Given the description of an element on the screen output the (x, y) to click on. 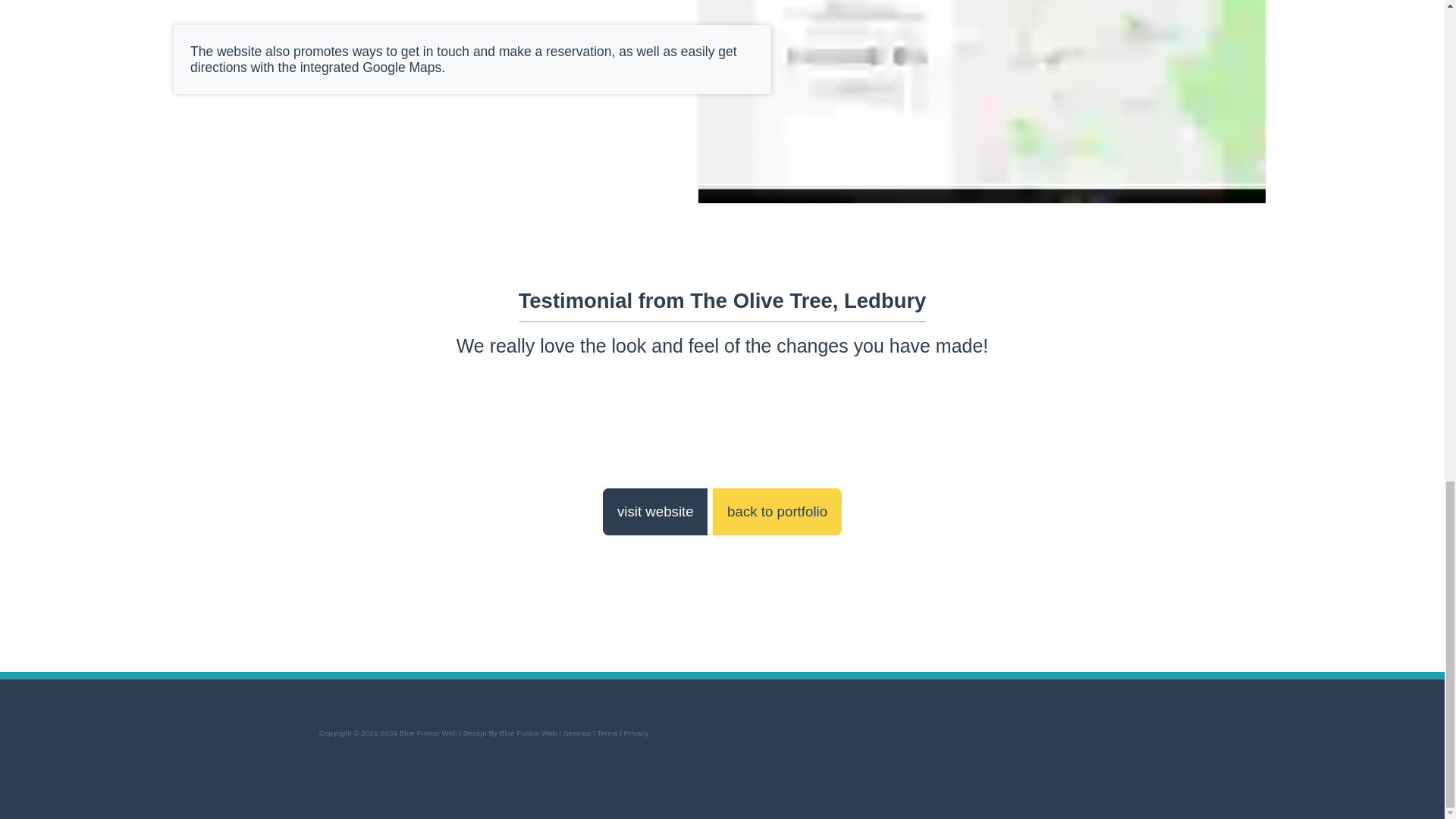
Privacy (636, 732)
View our website design portfolio (777, 511)
Design By Blue Fusion Web (510, 732)
Terms (606, 732)
Website Design in Worcestershire (510, 732)
Sitemap (577, 732)
visit website (654, 511)
The Olive Tree (654, 511)
back to portfolio (777, 511)
Sitemap (577, 732)
